Given the description of an element on the screen output the (x, y) to click on. 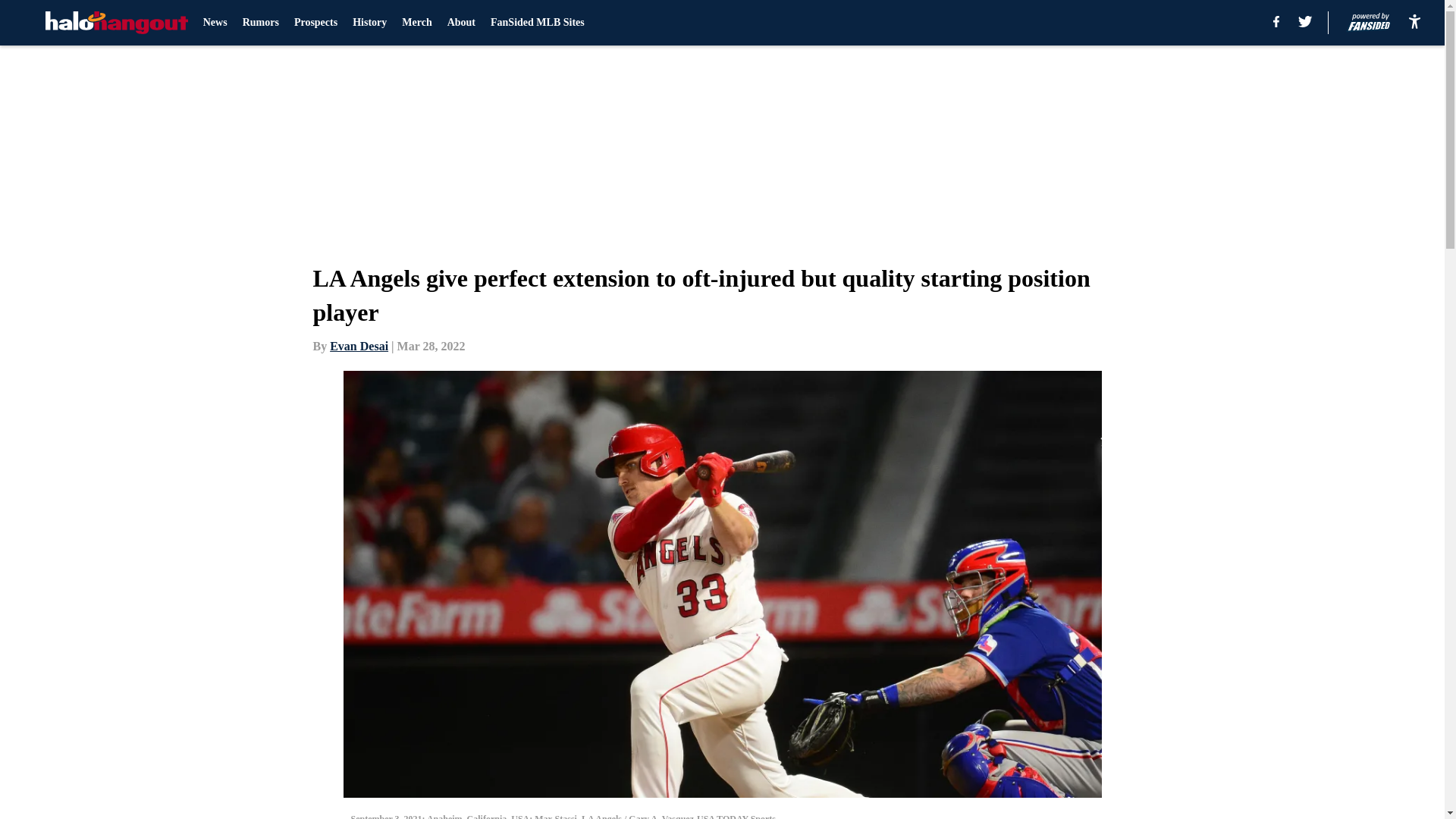
Prospects (315, 22)
FanSided MLB Sites (537, 22)
Evan Desai (359, 345)
About (461, 22)
News (215, 22)
Merch (415, 22)
History (369, 22)
Rumors (261, 22)
